Given the description of an element on the screen output the (x, y) to click on. 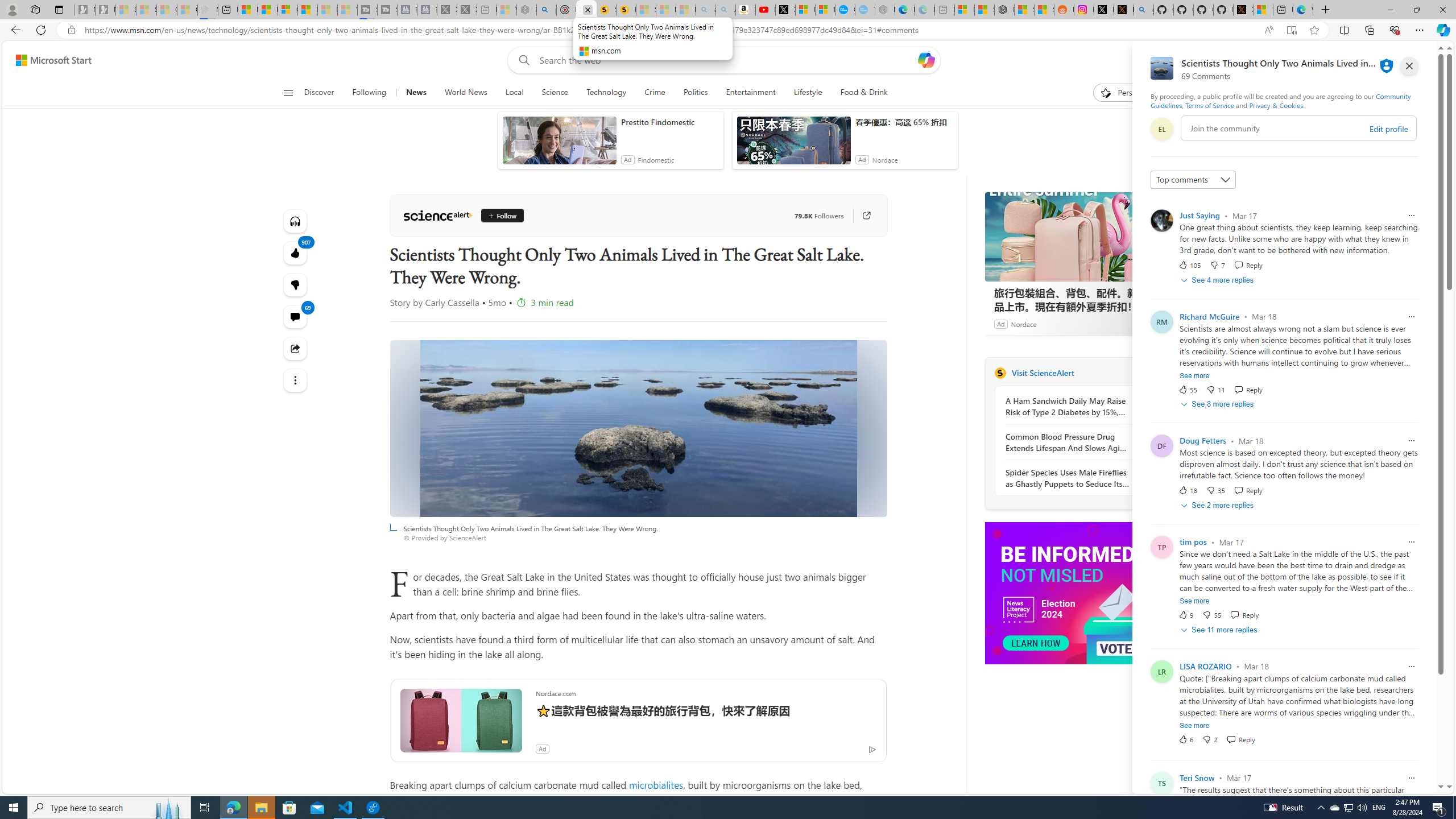
Notifications (1397, 60)
105 Like (1189, 264)
help.x.com | 524: A timeout occurred (1123, 9)
Privacy & Cookies (1276, 104)
Open navigation menu (287, 92)
microbialites (656, 784)
News (415, 92)
Lifestyle (807, 92)
Local (514, 92)
